Given the description of an element on the screen output the (x, y) to click on. 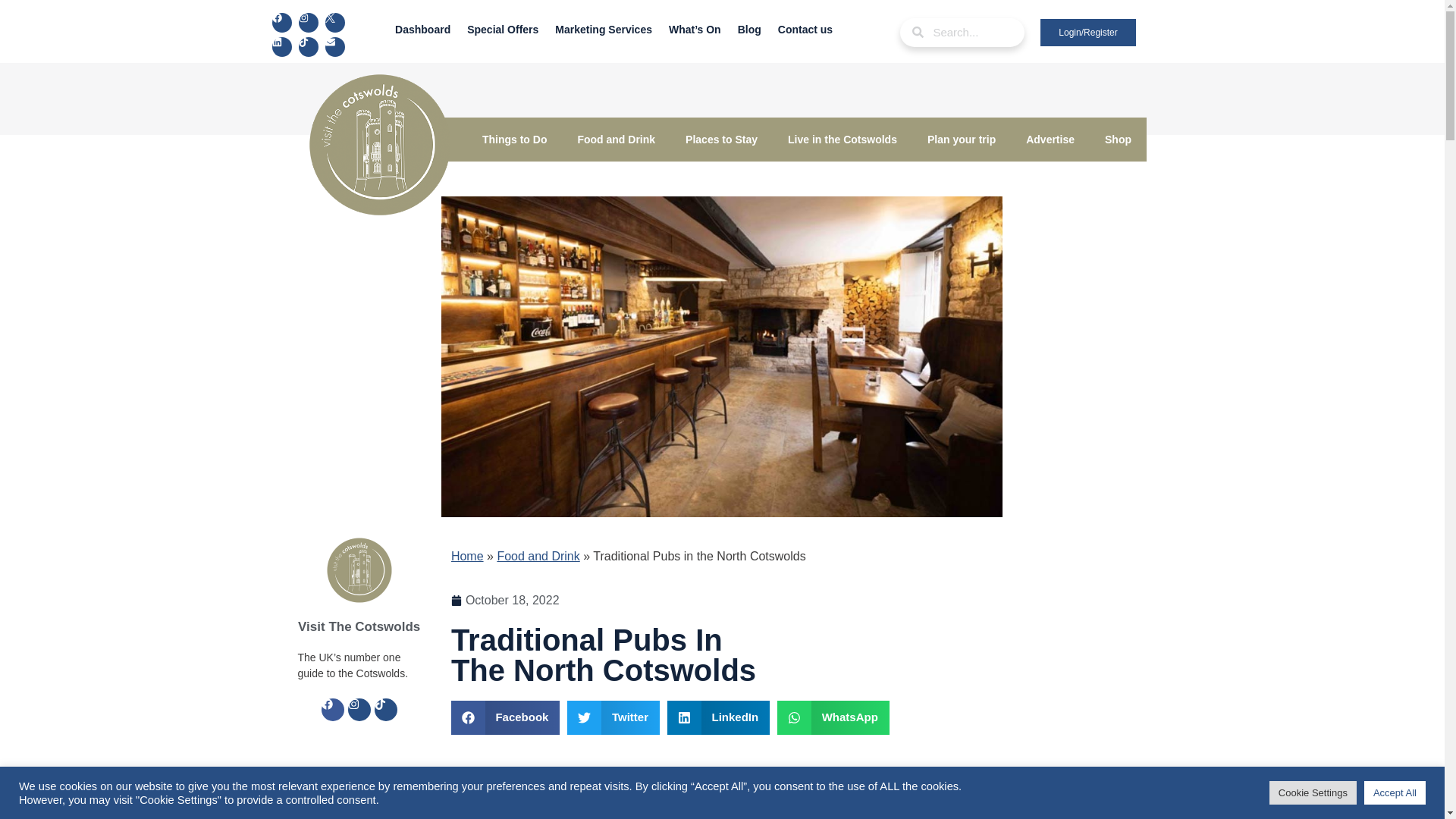
Special Offers (502, 29)
Shop (1118, 139)
Things to Do (514, 139)
Live in the Cotswolds (842, 139)
Advertise (1049, 139)
Contact us (805, 29)
Marketing Services (604, 29)
Plan your trip (961, 139)
Blog (749, 29)
Food and Drink (615, 139)
